Given the description of an element on the screen output the (x, y) to click on. 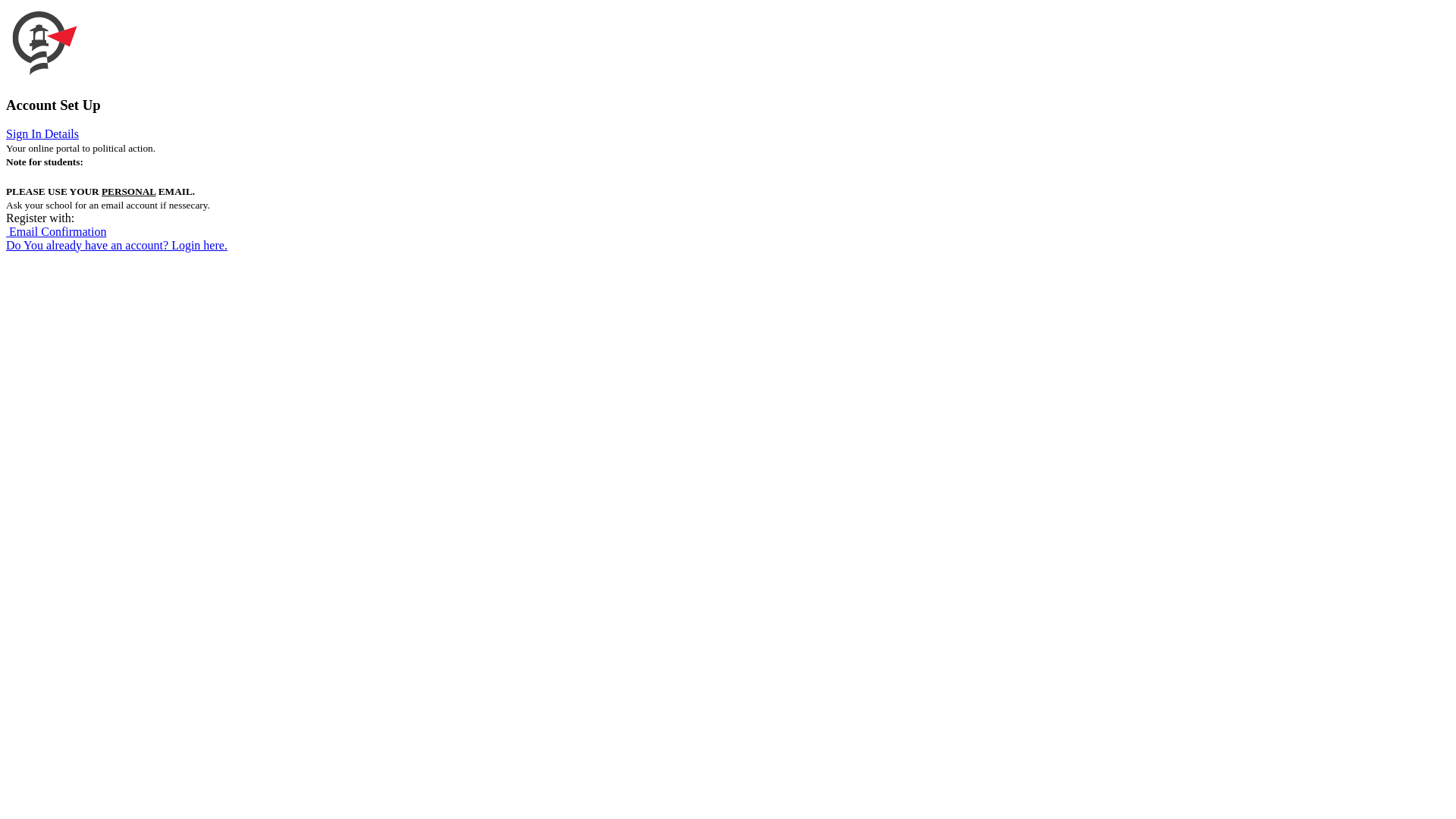
 Email Confirmation Element type: text (56, 231)
Sign In Details Element type: text (42, 133)
Do You already have an account? Login here. Element type: text (116, 244)
